Given the description of an element on the screen output the (x, y) to click on. 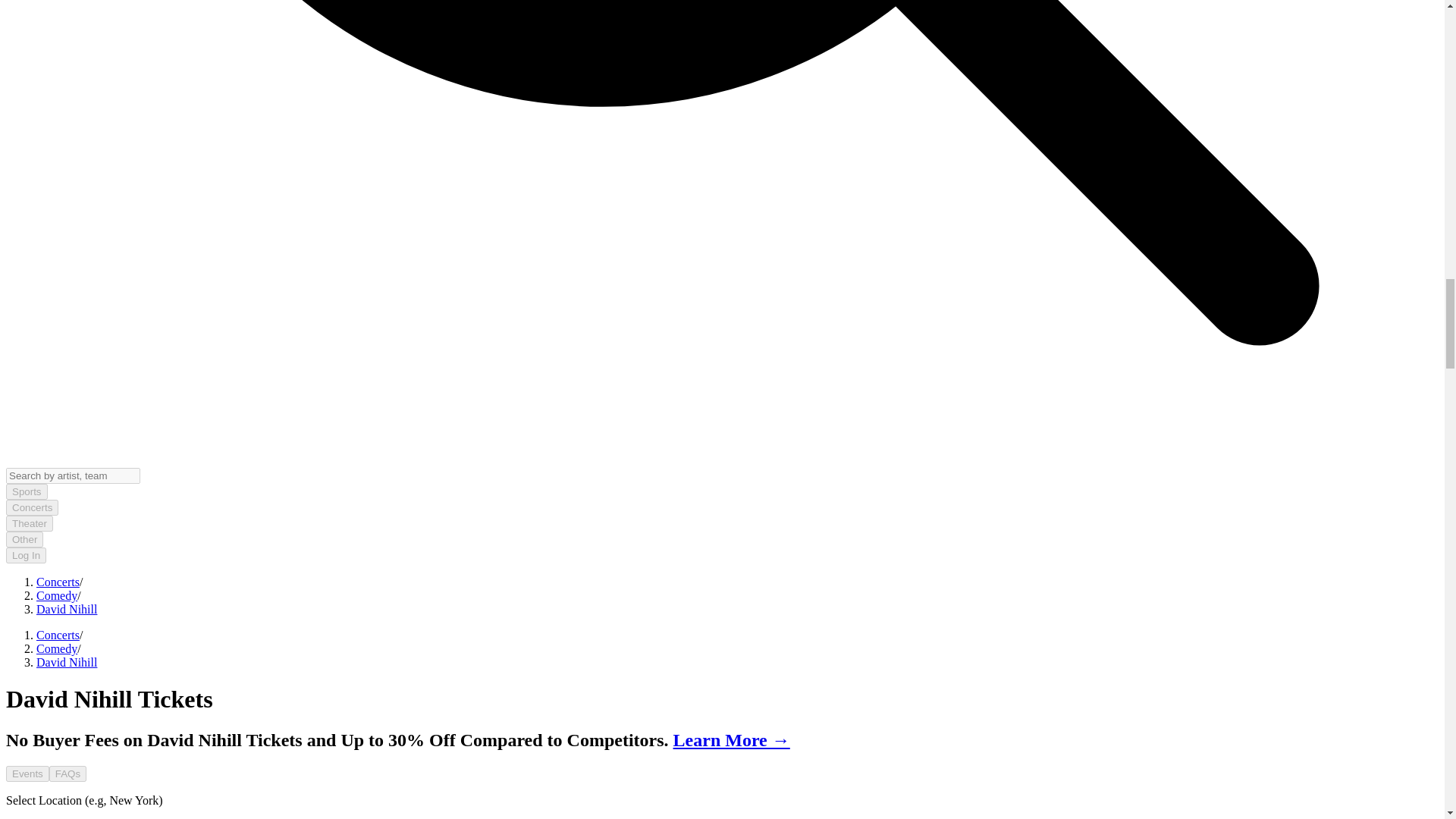
Concerts (58, 634)
David Nihill (66, 662)
Comedy (56, 594)
Concerts (58, 581)
FAQs (67, 773)
Comedy (56, 648)
Concerts (31, 507)
Log In (25, 555)
Events (27, 773)
Log In (25, 554)
Theater (28, 523)
Sports (26, 491)
Other (24, 539)
David Nihill (66, 608)
